Given the description of an element on the screen output the (x, y) to click on. 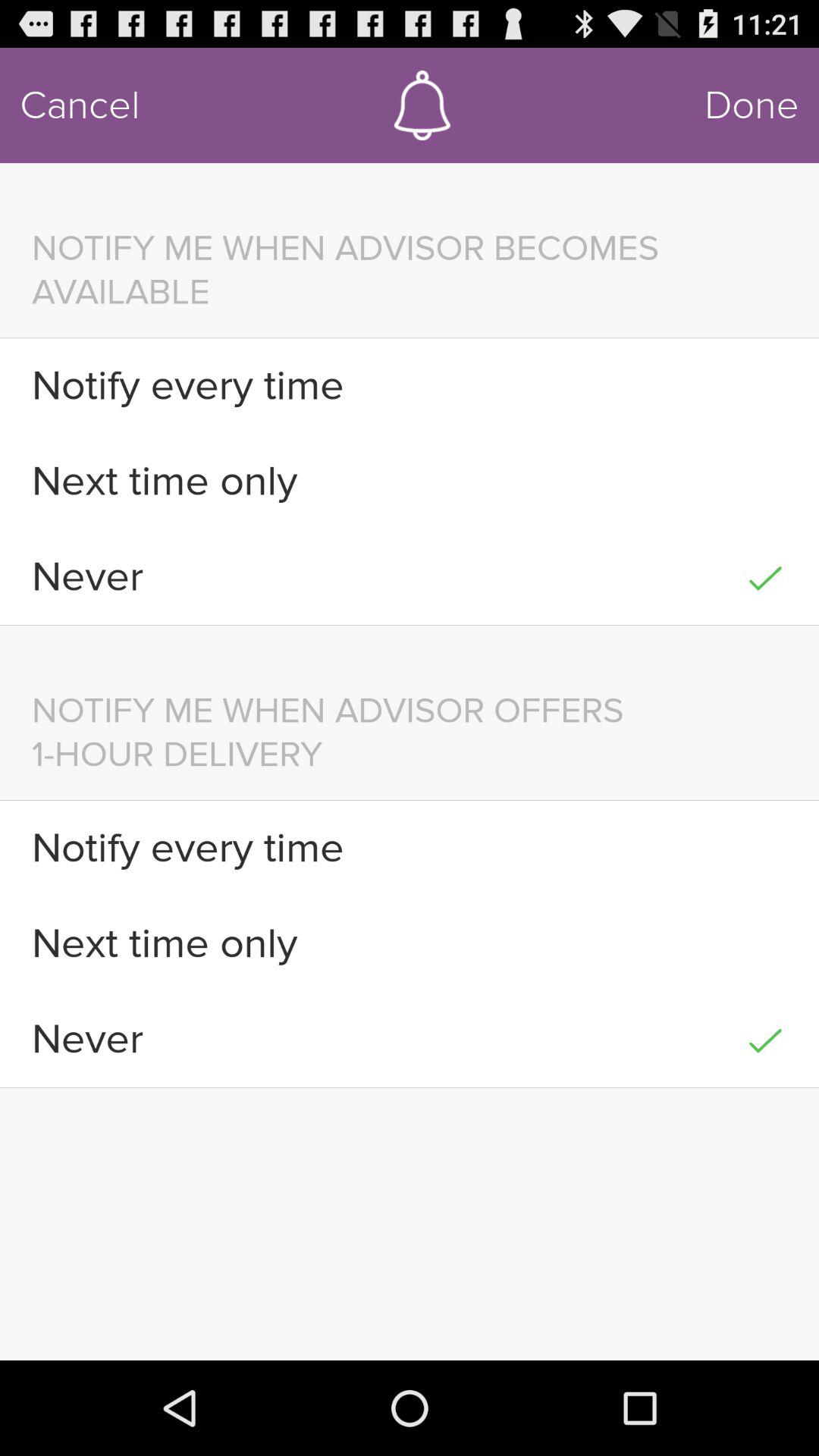
select item to the right of notify every time icon (765, 385)
